Given the description of an element on the screen output the (x, y) to click on. 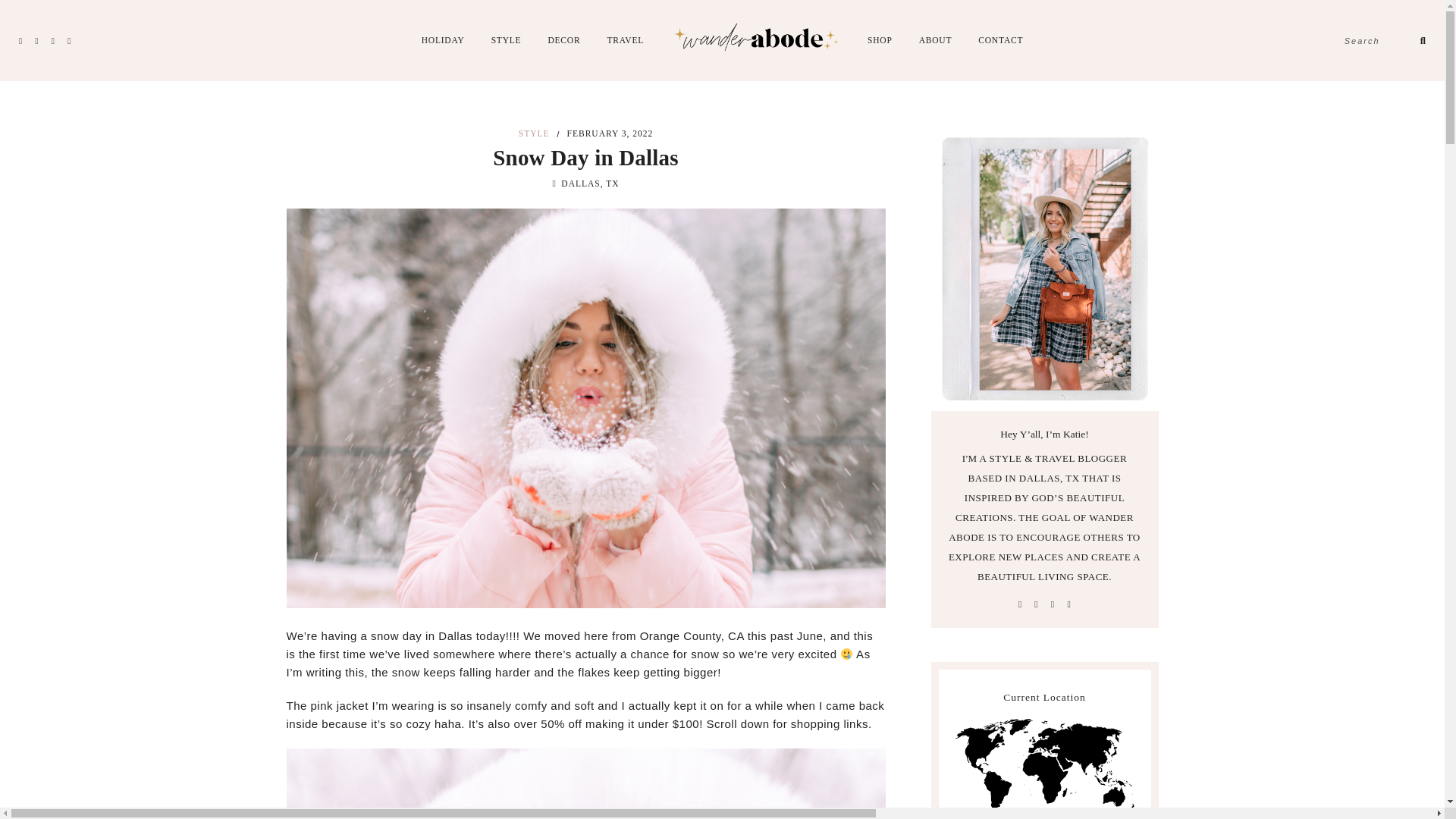
CONTACT (1000, 40)
STYLE (506, 40)
SHOP (879, 40)
DECOR (563, 40)
HOLIDAY (443, 40)
TRAVEL (625, 40)
ABOUT (935, 40)
